Given the description of an element on the screen output the (x, y) to click on. 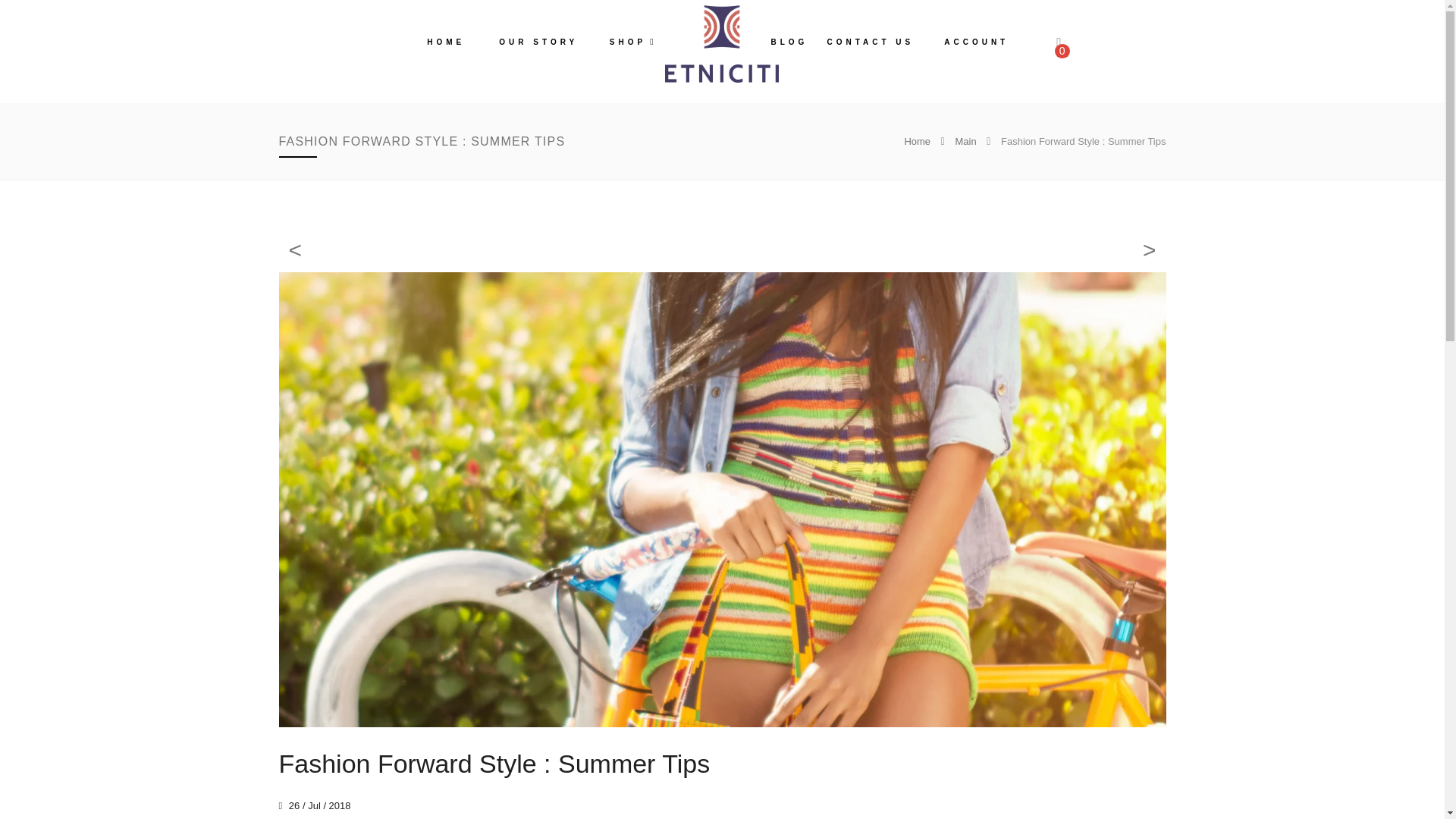
OUR STORY (539, 42)
HOME (445, 42)
SHOP (631, 42)
Etniciti (721, 43)
